Given the description of an element on the screen output the (x, y) to click on. 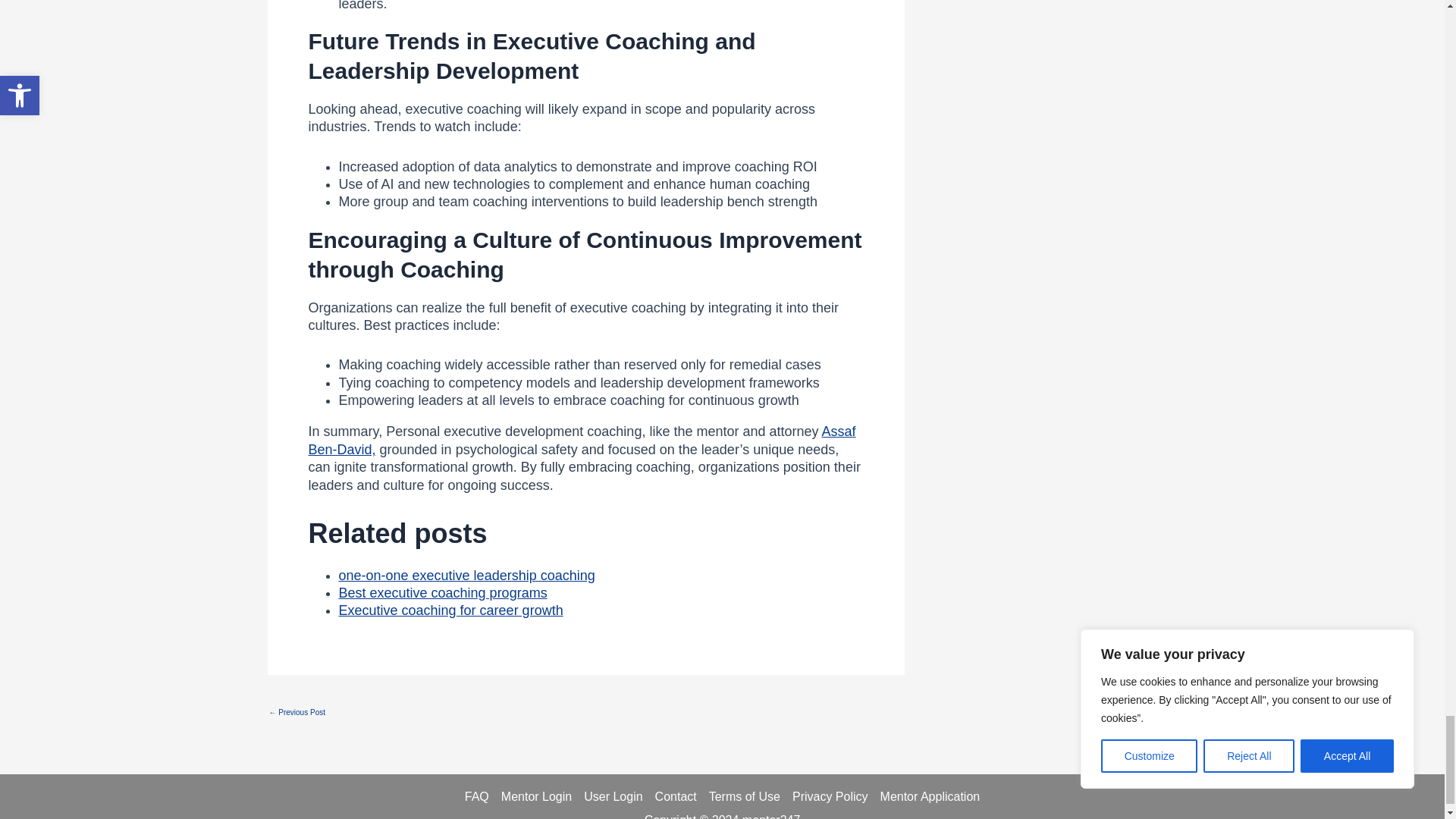
Executive coaching for stress management (295, 712)
